Given the description of an element on the screen output the (x, y) to click on. 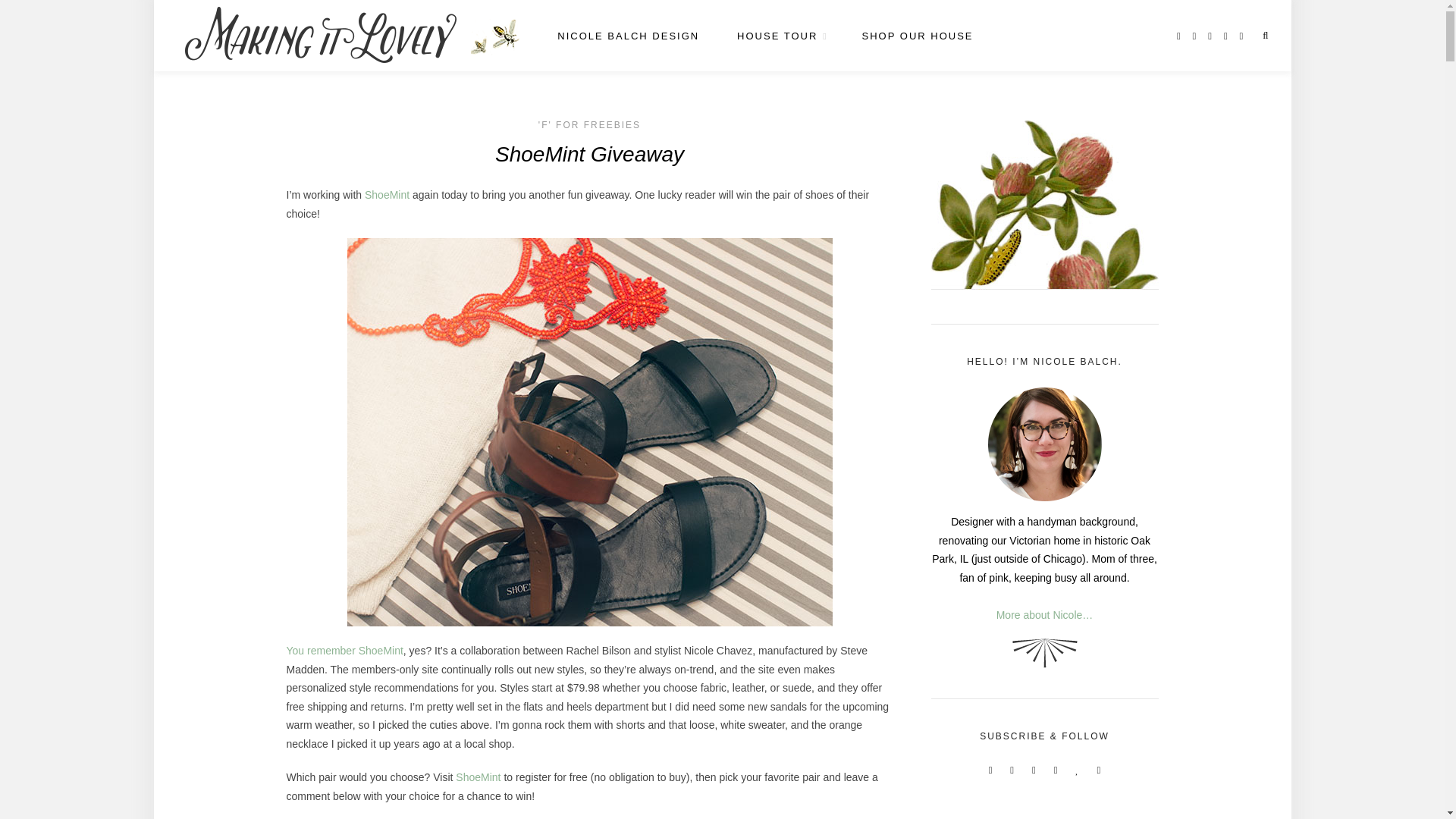
ShoeMint (477, 776)
You remember ShoeMint (344, 650)
ShoeMint Giveaway (344, 650)
NICOLE BALCH DESIGN (627, 36)
ShoeMint (387, 194)
SHOP OUR HOUSE (917, 36)
'F' FOR FREEBIES (589, 124)
Home (494, 36)
HOUSE TOUR (780, 36)
